Given the description of an element on the screen output the (x, y) to click on. 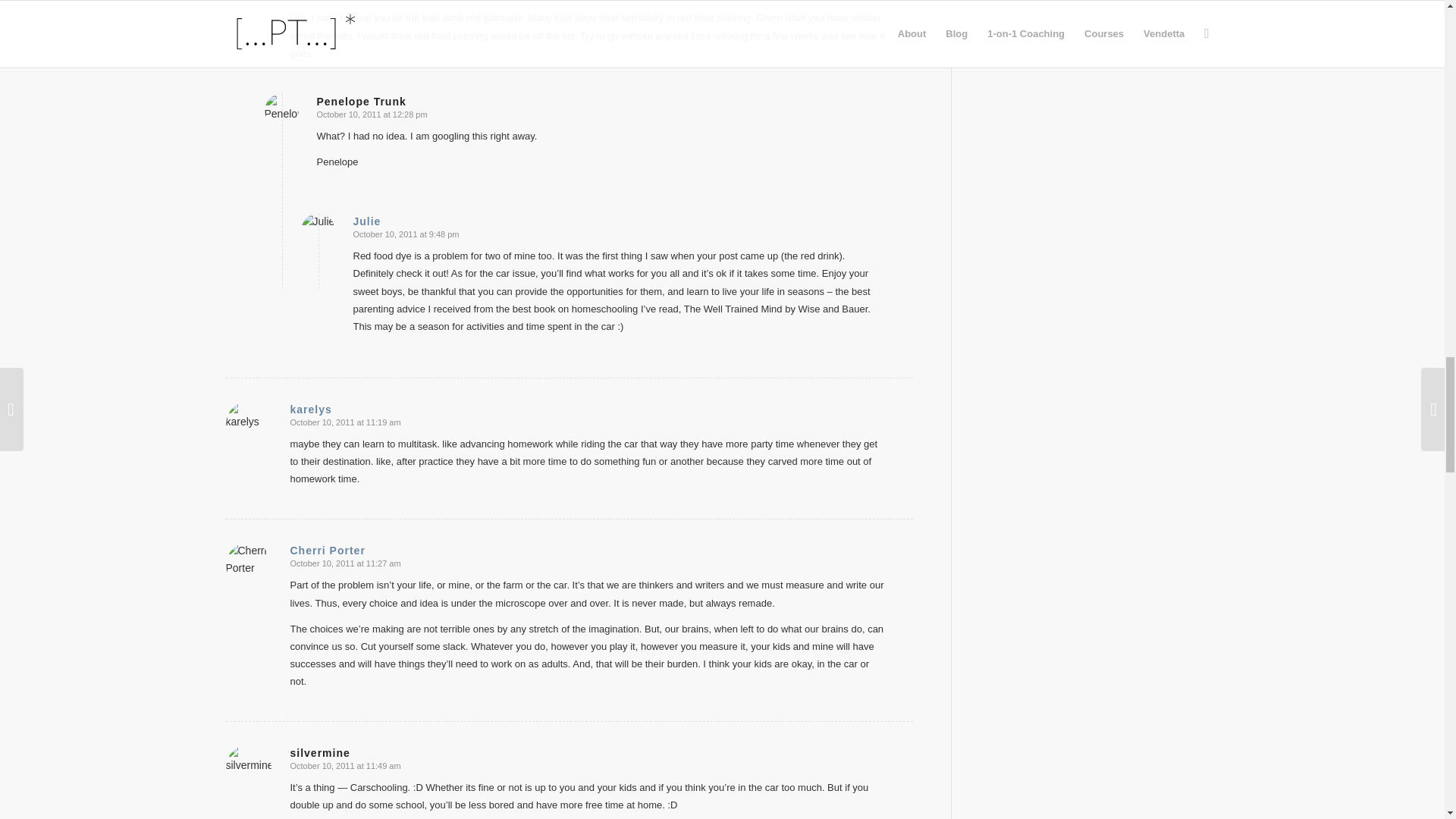
October 10, 2011 at 11:27 am (344, 563)
October 10, 2011 at 11:49 am (344, 765)
October 10, 2011 at 12:28 pm (372, 113)
October 10, 2011 at 11:19 am (344, 421)
October 10, 2011 at 9:48 pm (406, 234)
Cherri Porter (327, 550)
Julie (367, 221)
karelys (310, 409)
